Given the description of an element on the screen output the (x, y) to click on. 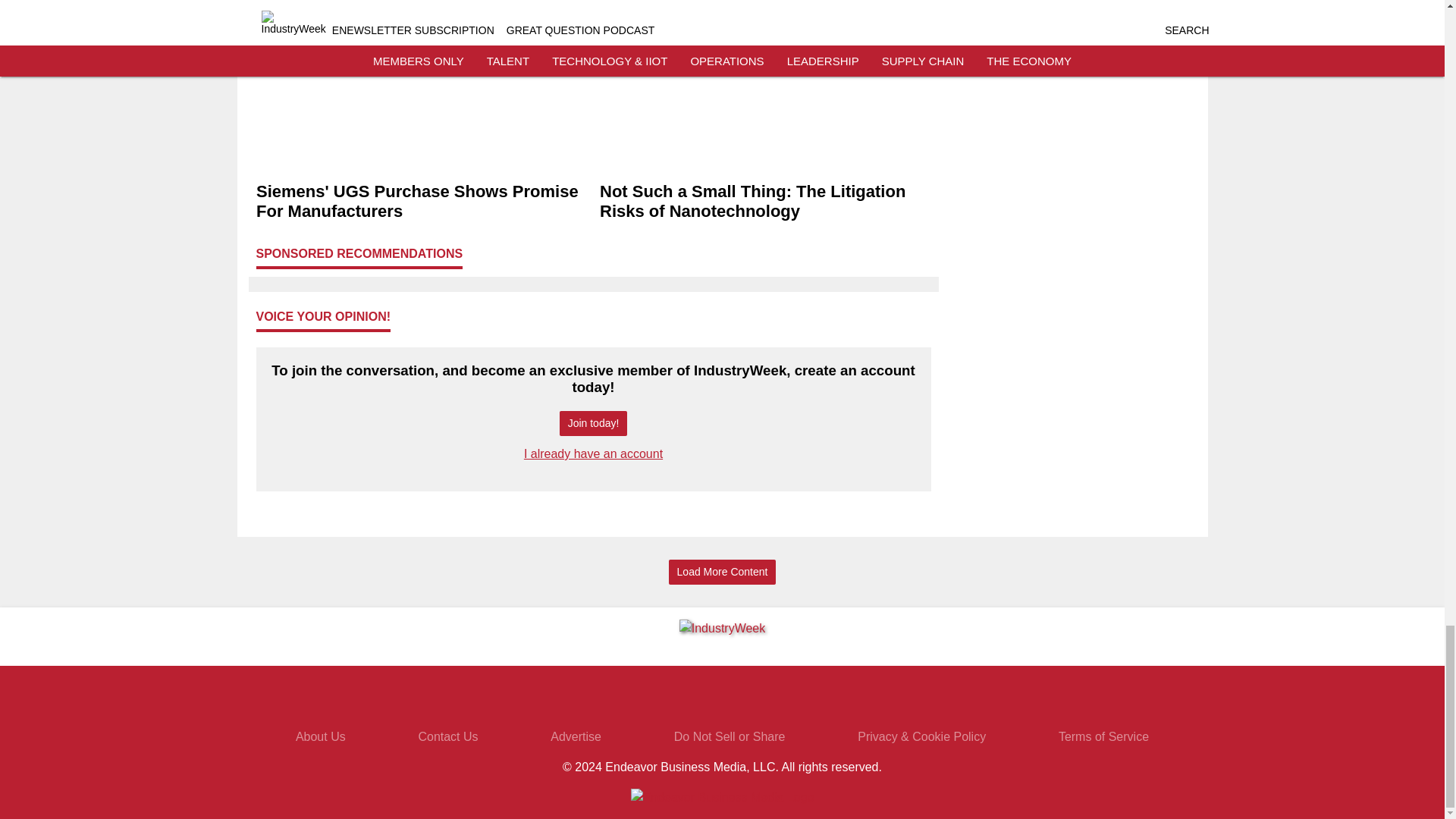
I already have an account (593, 453)
Siemens' UGS Purchase Shows Promise For Manufacturers (422, 201)
Join today! (593, 423)
